Given the description of an element on the screen output the (x, y) to click on. 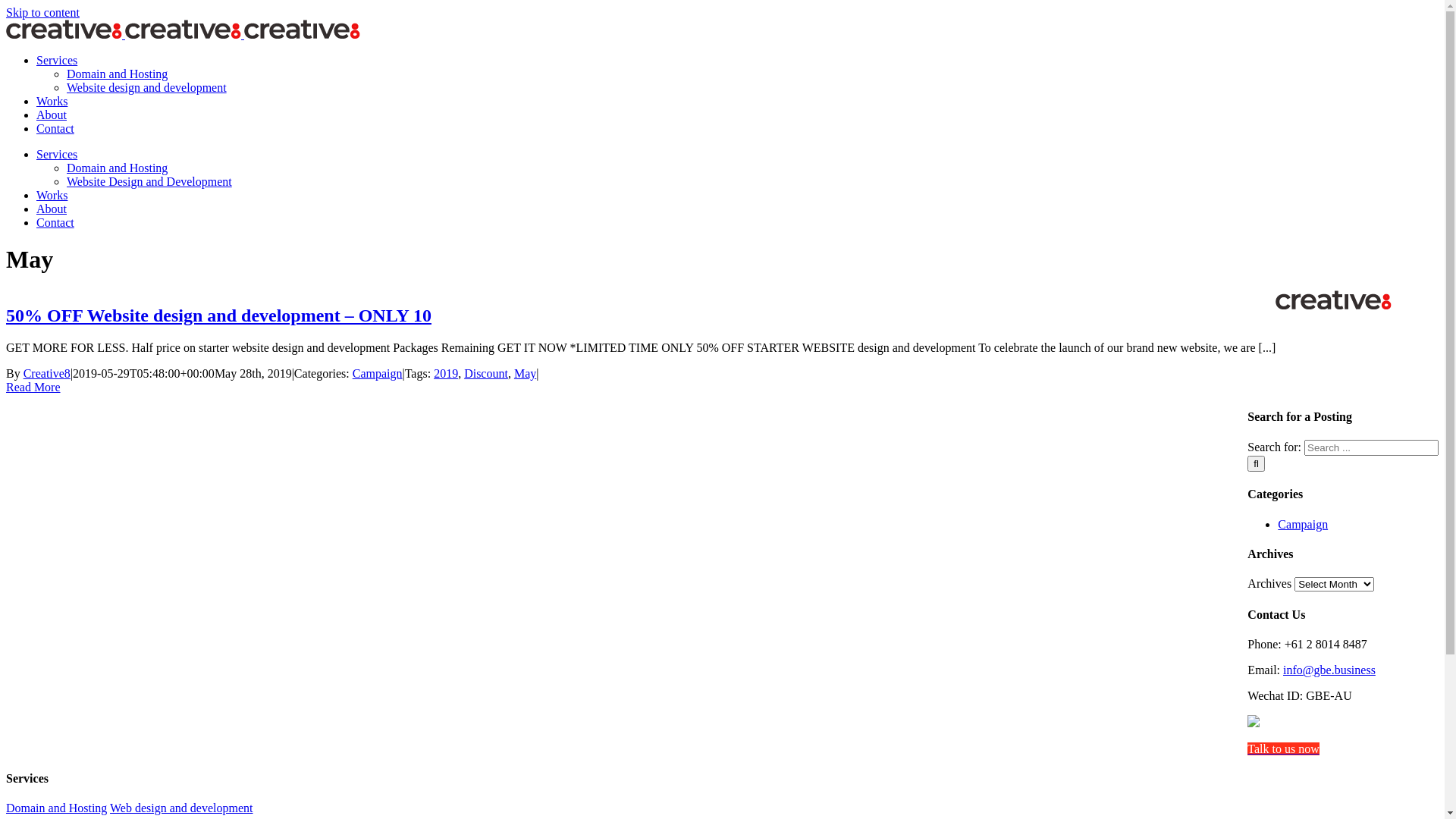
Domain and Hosting Element type: text (116, 167)
info@gbe.business Element type: text (1329, 669)
Discount Element type: text (486, 373)
Domain and Hosting Element type: text (116, 73)
Works Element type: text (51, 100)
Website design and development Element type: text (146, 87)
Read More Element type: text (33, 386)
About Element type: text (51, 208)
Services Element type: text (56, 153)
Domain and Hosting Element type: text (56, 807)
About Element type: text (51, 114)
Skip to content Element type: text (42, 12)
Campaign Element type: text (1302, 523)
Campaign Element type: text (377, 373)
Contact Element type: text (55, 222)
May Element type: text (525, 373)
Creative8 Element type: text (46, 373)
Website Design and Development Element type: text (149, 181)
Works Element type: text (51, 194)
Web design and development Element type: text (180, 807)
Talk to us now Element type: text (1282, 748)
Contact Element type: text (55, 128)
2019 Element type: text (445, 373)
Services Element type: text (56, 59)
